Given the description of an element on the screen output the (x, y) to click on. 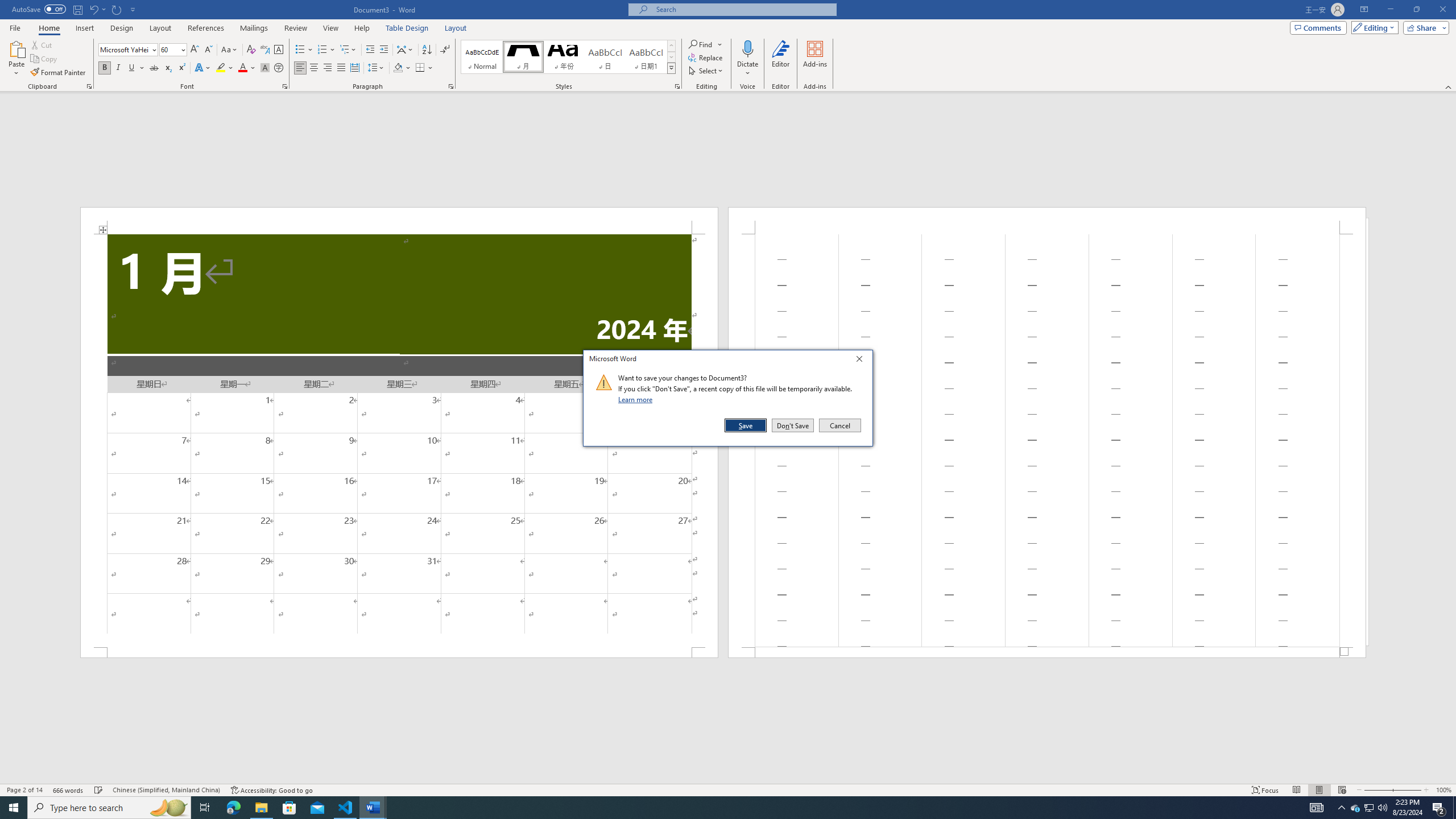
Decrease Indent (370, 49)
Show/Hide Editing Marks (444, 49)
User Promoted Notification Area (1368, 807)
Text Highlight Color (1355, 807)
Underline (224, 67)
Bullets (131, 67)
Help (304, 49)
Font Color (361, 28)
Borders (246, 67)
Search highlights icon opens search home window (419, 67)
More Options (167, 807)
Design (747, 68)
Superscript (122, 28)
Editor (180, 67)
